Given the description of an element on the screen output the (x, y) to click on. 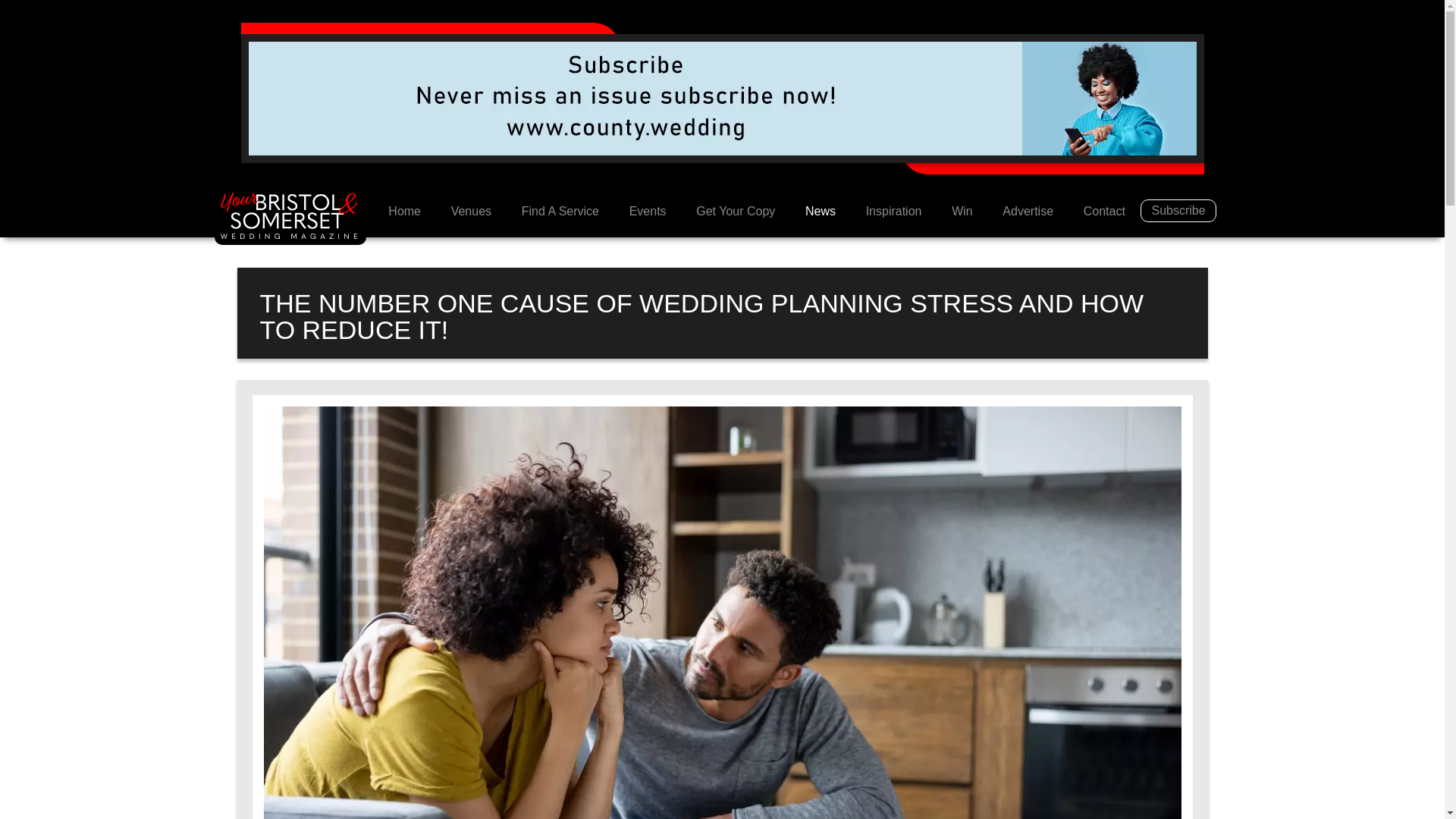
Find A Service (560, 211)
Be inspired by Your Bristol and Somerset Wedding magazine (893, 211)
Contact (1104, 211)
Your Bristol and Somerset Wedding (403, 211)
Get Your Copy (735, 211)
Your Bristol and Somerset Wedding (289, 217)
Subscribe to County Wedding Magazines for free (722, 97)
Upcoming wedding fayres, shows and events (647, 211)
Home (403, 211)
Venues (470, 211)
